Given the description of an element on the screen output the (x, y) to click on. 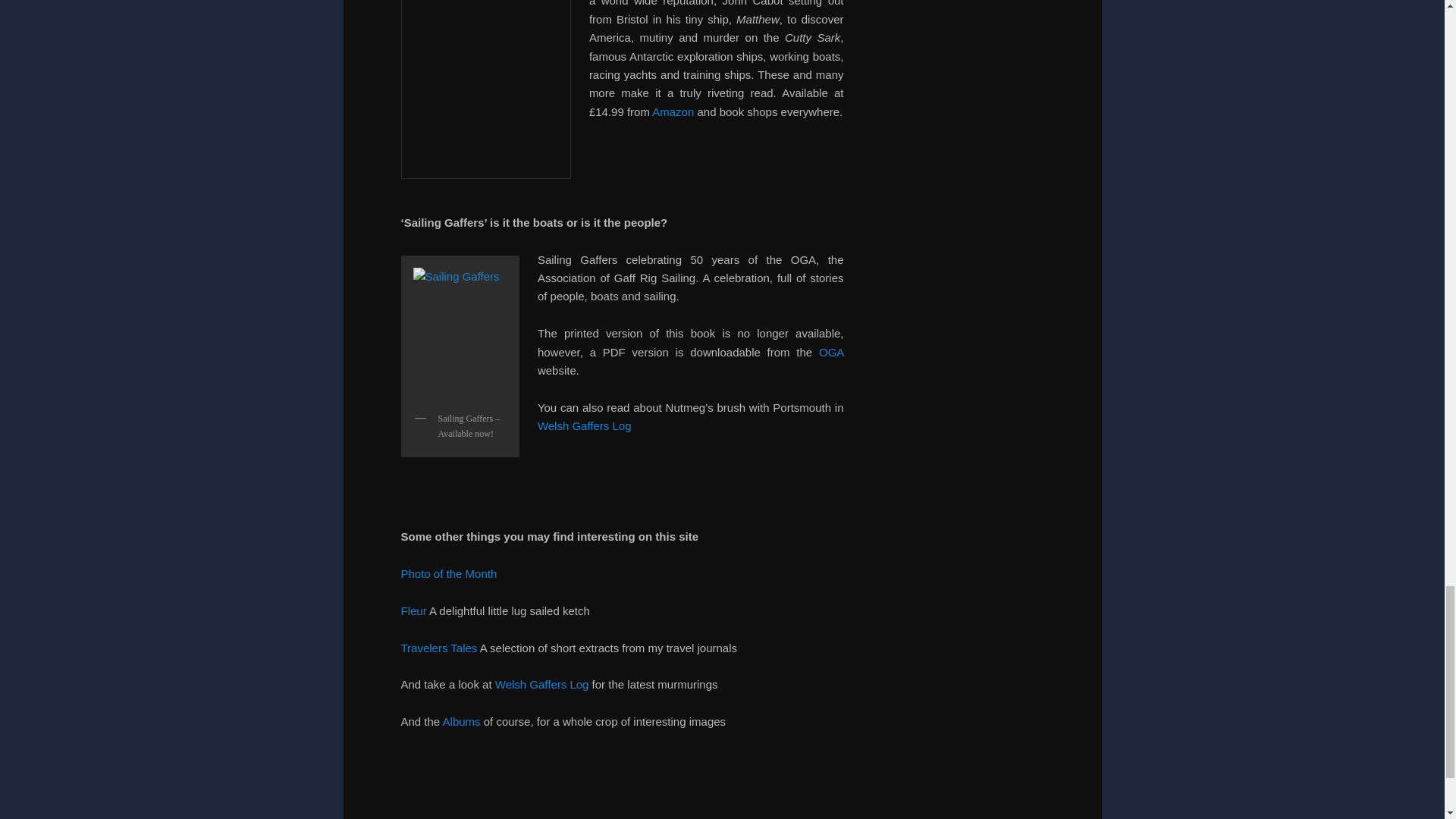
OGA (831, 351)
Amazon (673, 111)
Welsh Gaffers Log (584, 425)
Photo of the Month (448, 573)
Photo of the Month (448, 573)
Albums (462, 721)
Fleur (414, 610)
Travellers Tales (439, 647)
Fleur  (414, 610)
